Given the description of an element on the screen output the (x, y) to click on. 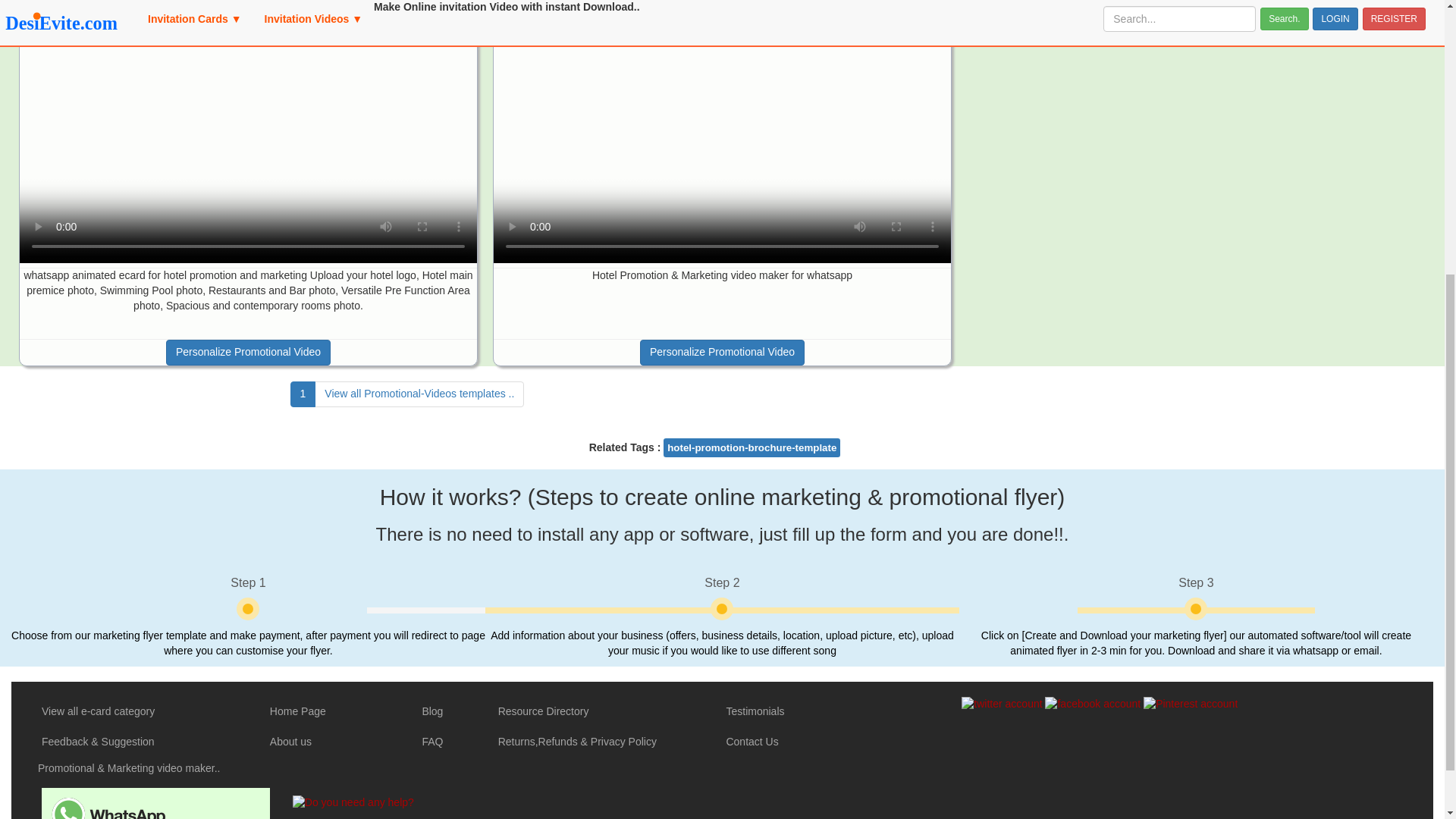
Testimonials (754, 711)
View all e-card category (98, 711)
Resource Directory (543, 711)
1 (302, 394)
Contact Us (751, 741)
About us (290, 741)
Personalize Promotional Video (722, 352)
Blog (432, 711)
View all Promotional-Videos templates .. (419, 394)
Home Page (297, 711)
